Given the description of an element on the screen output the (x, y) to click on. 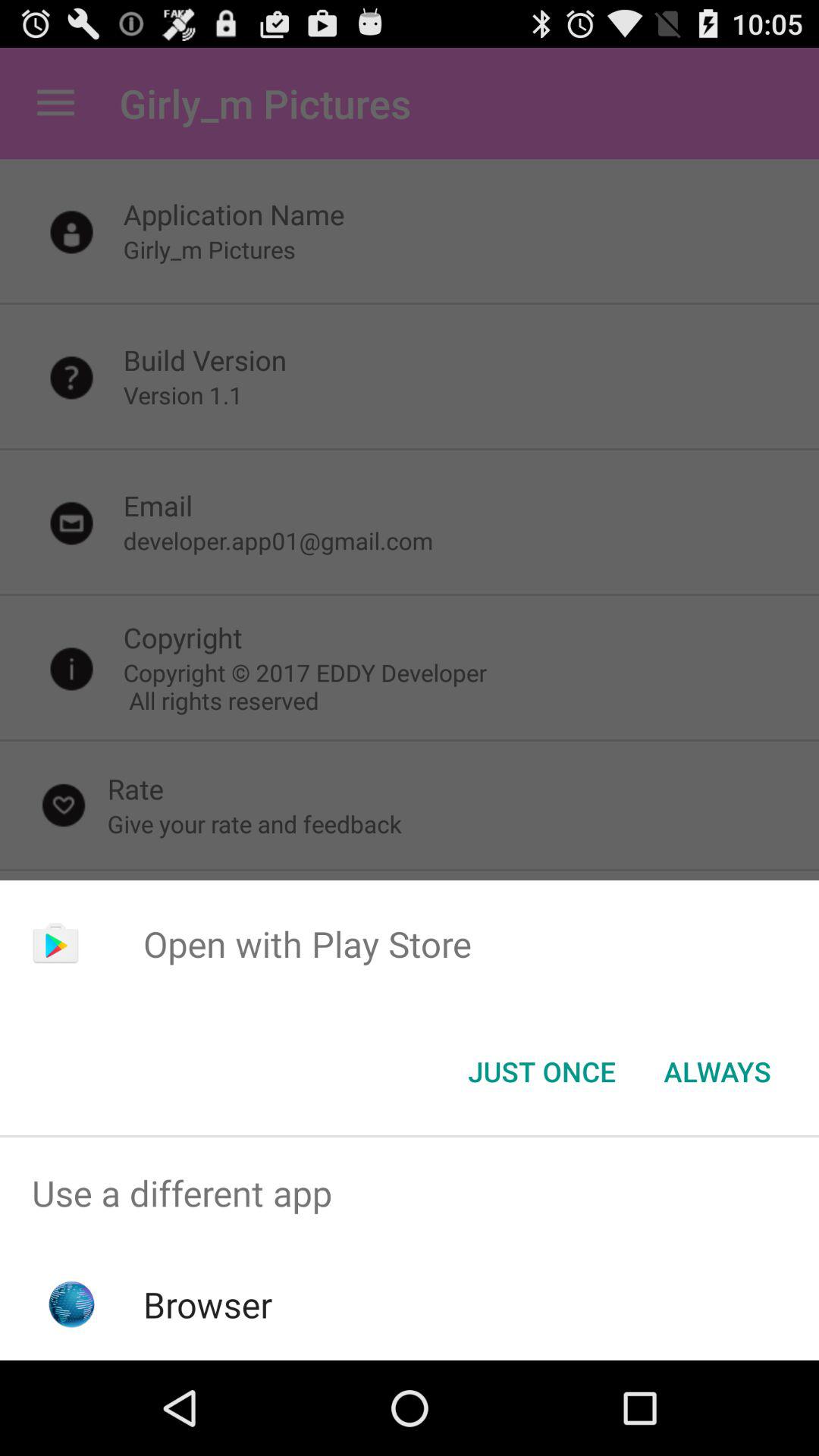
select item next to just once item (717, 1071)
